Given the description of an element on the screen output the (x, y) to click on. 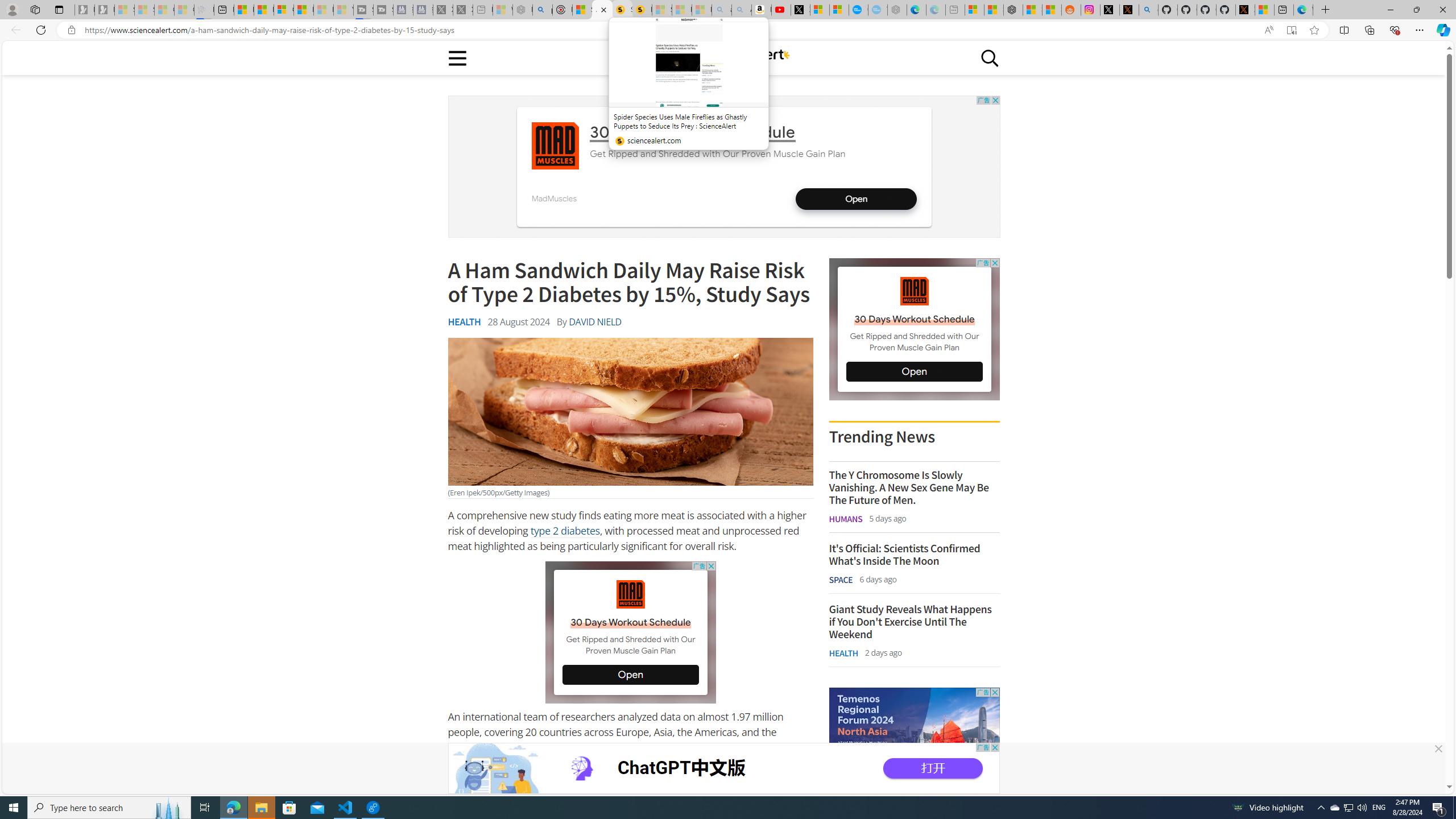
Address and search bar (669, 29)
ScienceAlert homepage (723, 57)
Nordace - Duffels (1012, 9)
Amazon Echo Dot PNG - Search Images - Sleeping (741, 9)
X Privacy Policy (1244, 9)
Nordace - Summer Adventures 2024 - Sleeping (522, 9)
